Given the description of an element on the screen output the (x, y) to click on. 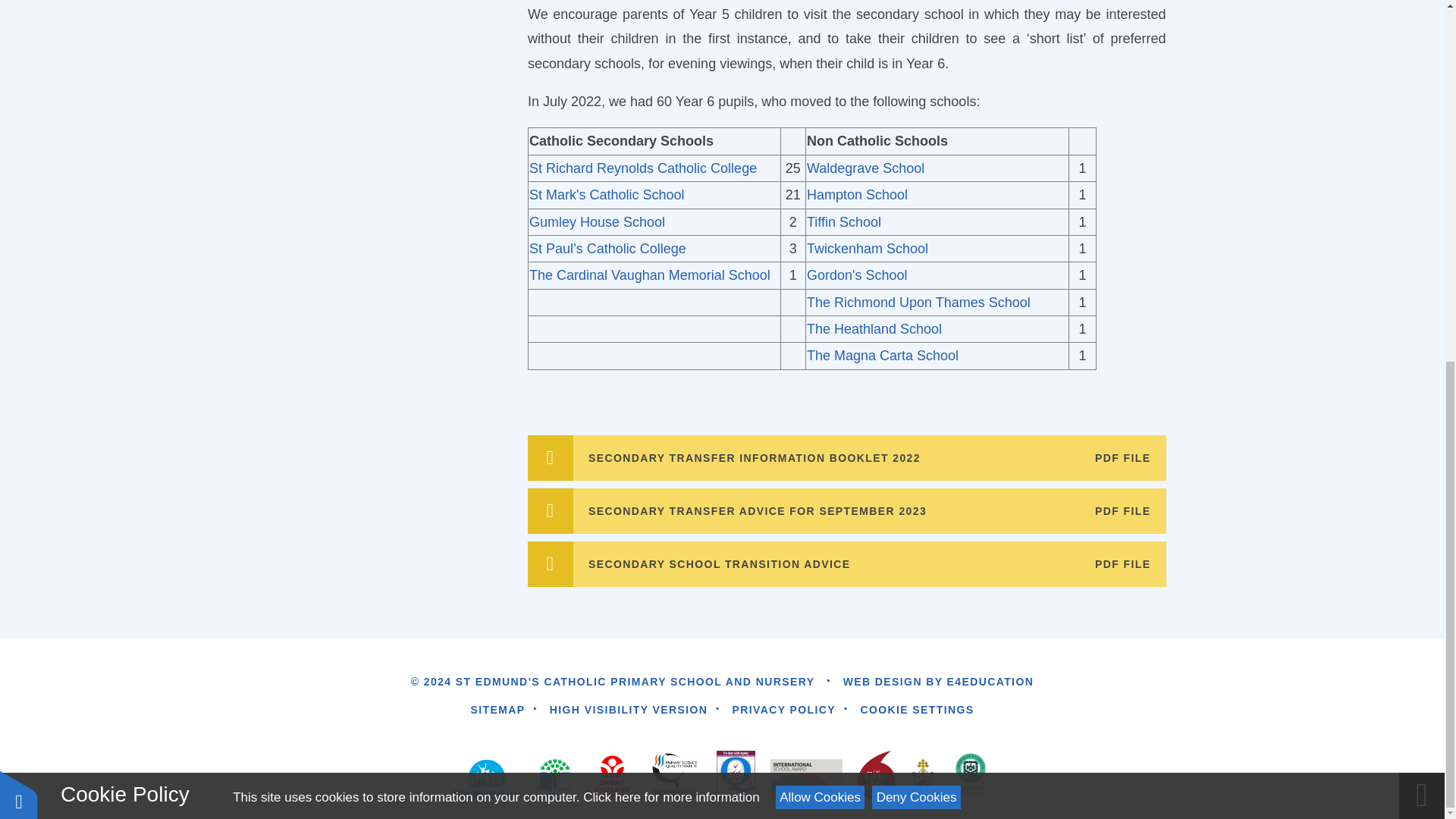
See cookie policy (670, 154)
Deny Cookies (915, 154)
Cookie Settings (917, 709)
Allow Cookies (820, 154)
